Given the description of an element on the screen output the (x, y) to click on. 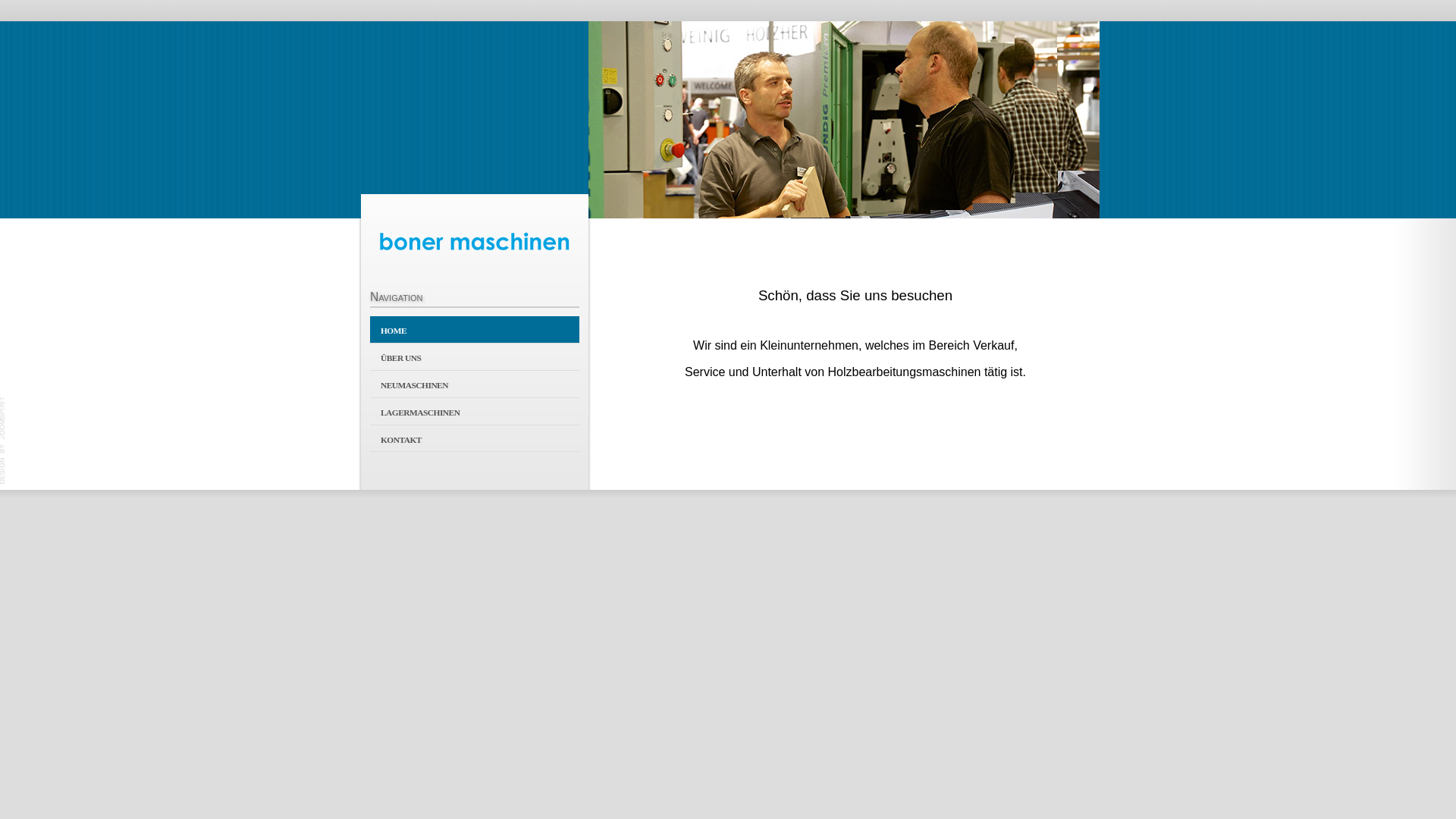
KONTAKT Element type: text (474, 438)
template-joomspirit.com Element type: text (3, 440)
HOME Element type: text (474, 329)
NEUMASCHINEN Element type: text (474, 383)
LAGERMASCHINEN Element type: text (474, 411)
